Given the description of an element on the screen output the (x, y) to click on. 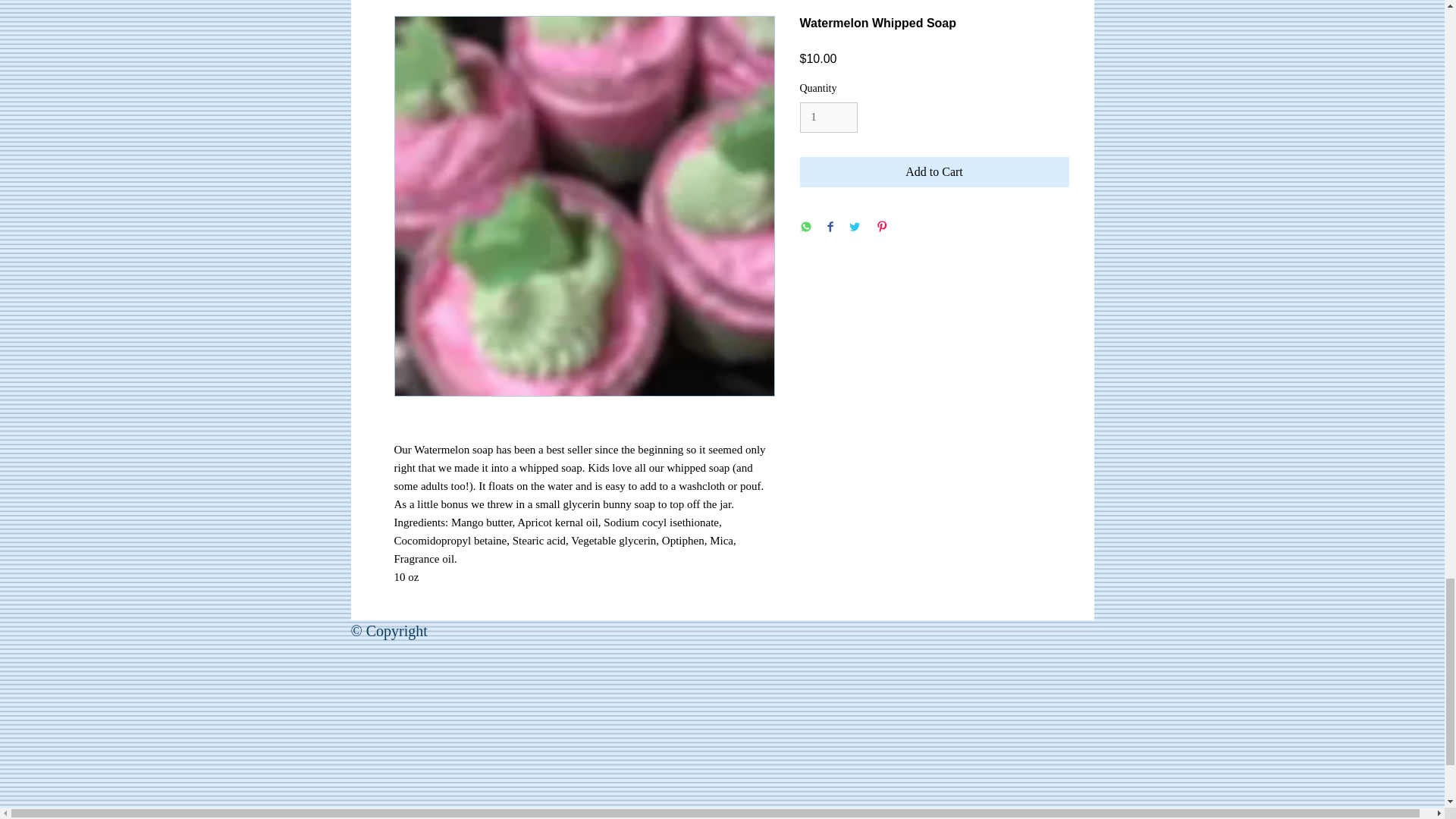
1 (828, 117)
Add to Cart (933, 172)
